Given the description of an element on the screen output the (x, y) to click on. 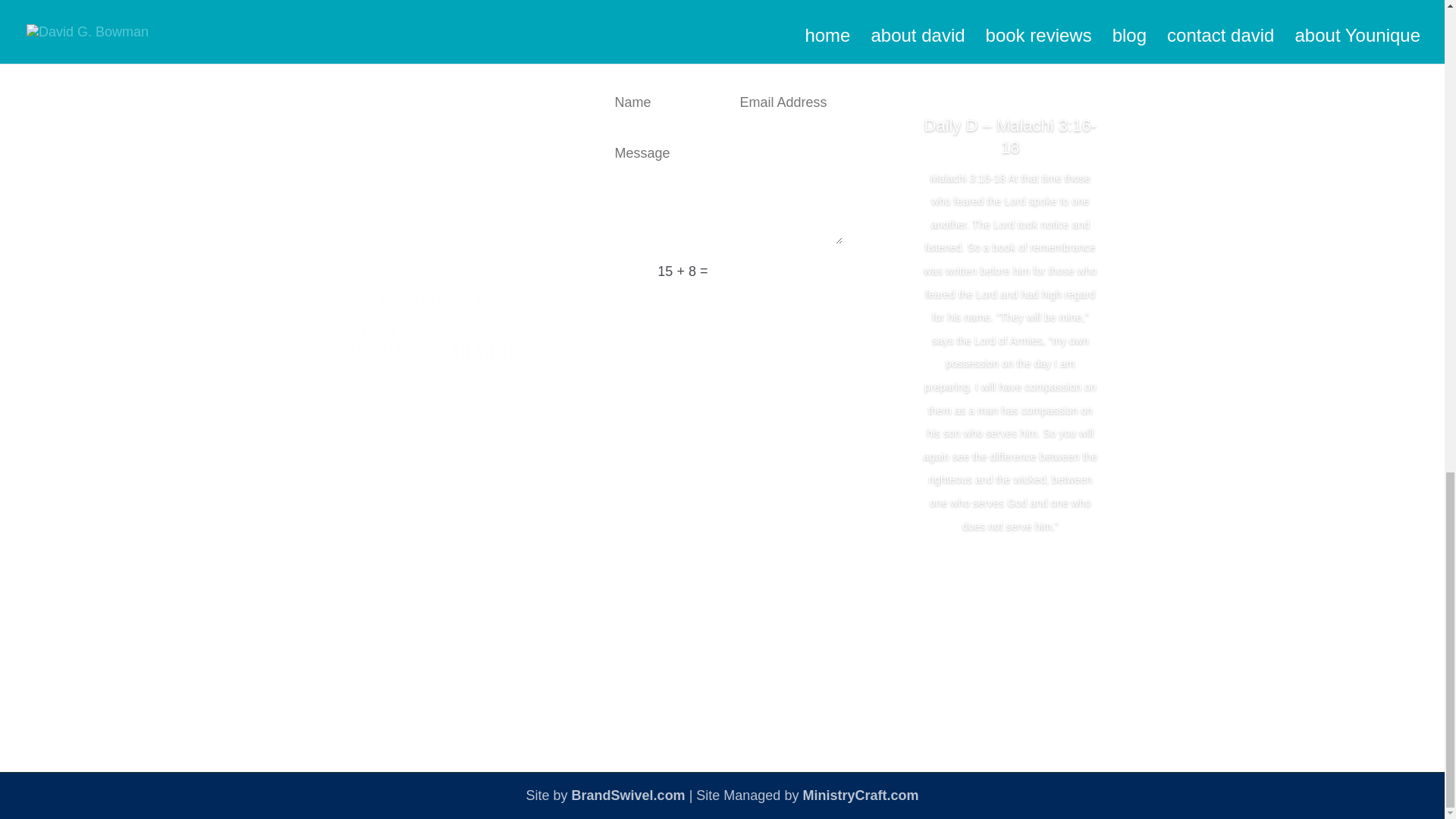
Follow on Twitter (410, 93)
Submit (802, 270)
Read More (1010, 571)
Follow on Facebook (380, 93)
Follow on Pinterest (501, 93)
BrandSwivel.com (628, 795)
Follow on Instagram (471, 93)
MinistryCraft.com (860, 795)
Follow on LinkedIn (440, 93)
